Given the description of an element on the screen output the (x, y) to click on. 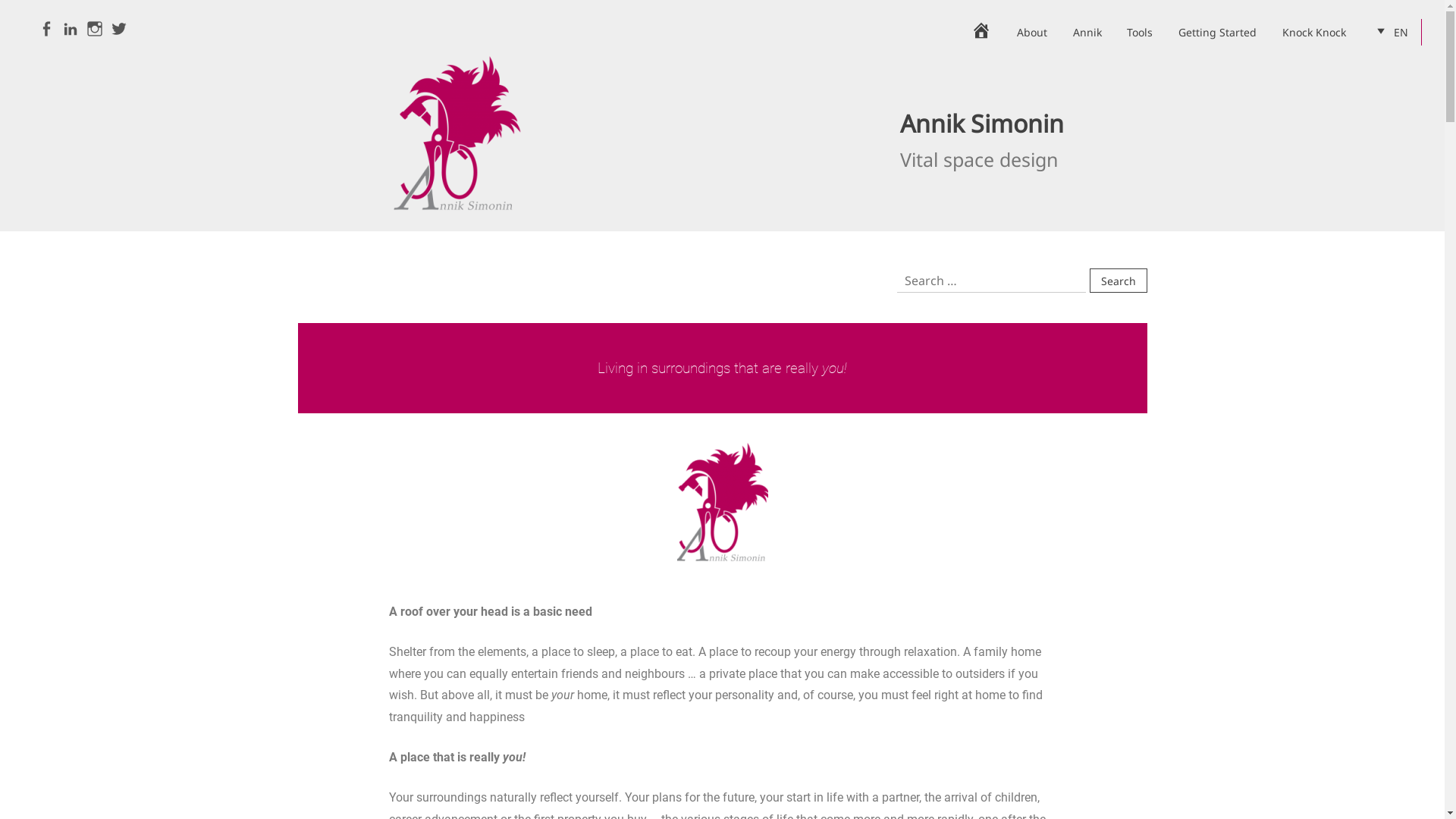
Facebook Element type: text (45, 29)
Knock Knock Element type: text (1313, 31)
Annik-Simonin logo Element type: hover (721, 505)
About Element type: text (1032, 31)
Annik Simonin Element type: text (981, 122)
Instagram Element type: text (94, 29)
Annik Element type: text (1087, 31)
Linkedin Element type: text (70, 29)
Home Element type: text (981, 32)
Twitter Element type: text (118, 29)
Getting Started Element type: text (1217, 31)
EN Element type: text (1389, 31)
Search Element type: text (1117, 280)
Tools Element type: text (1140, 31)
